Given the description of an element on the screen output the (x, y) to click on. 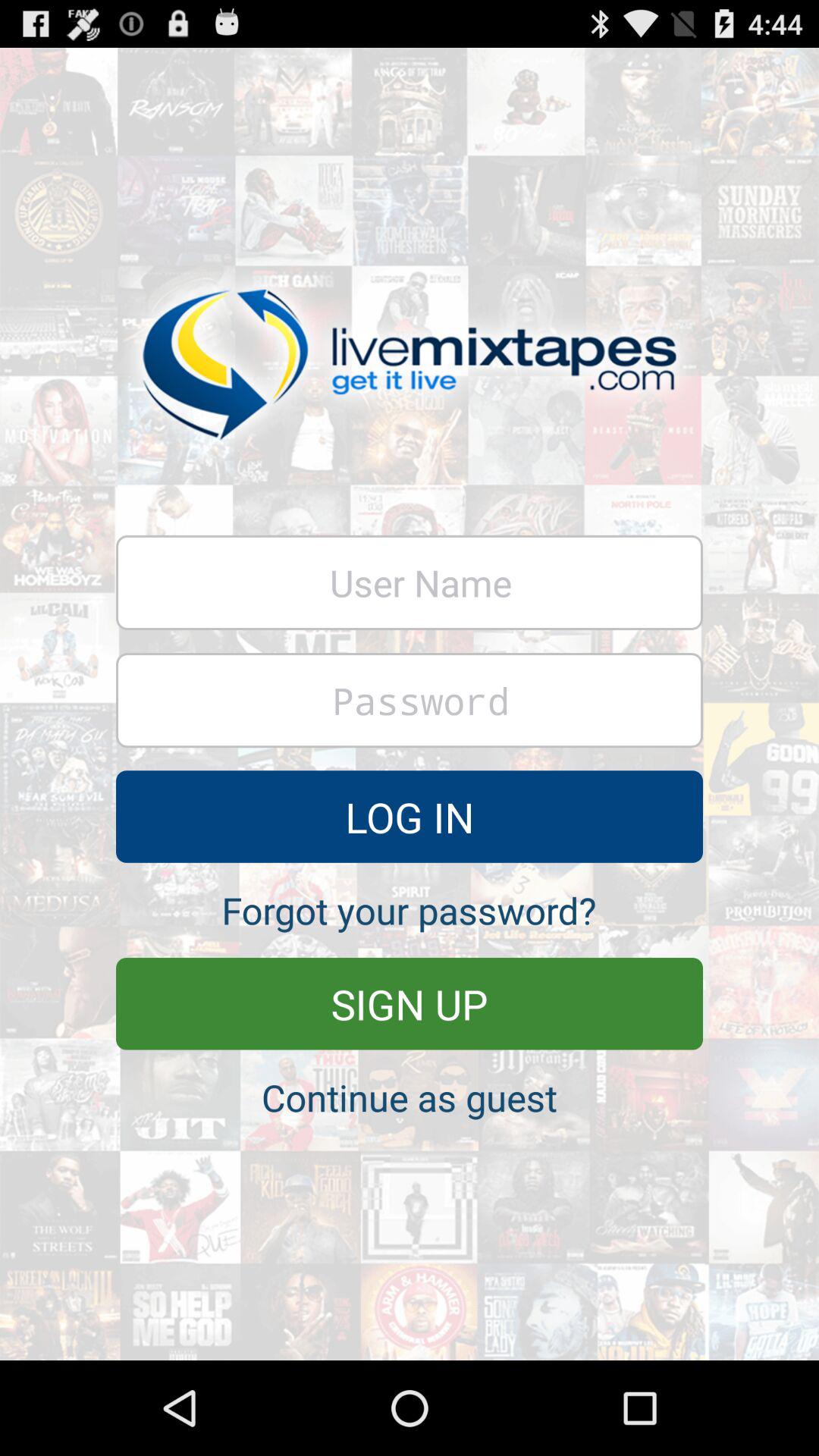
enter box (409, 582)
